Given the description of an element on the screen output the (x, y) to click on. 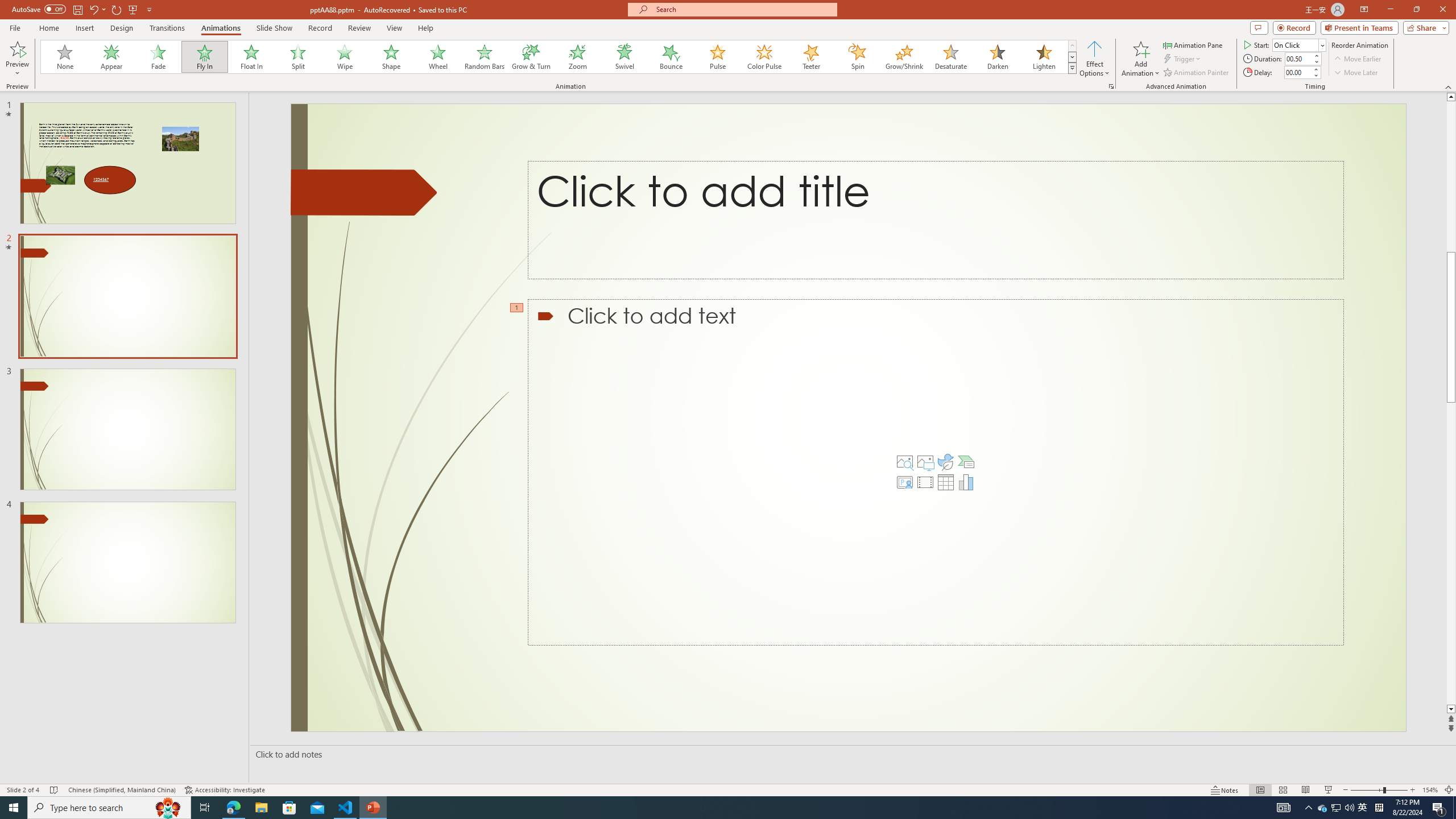
More Options... (1110, 85)
Darken (997, 56)
Insert Chart (965, 482)
Move Later (1355, 72)
Stock Images (904, 461)
